Given the description of an element on the screen output the (x, y) to click on. 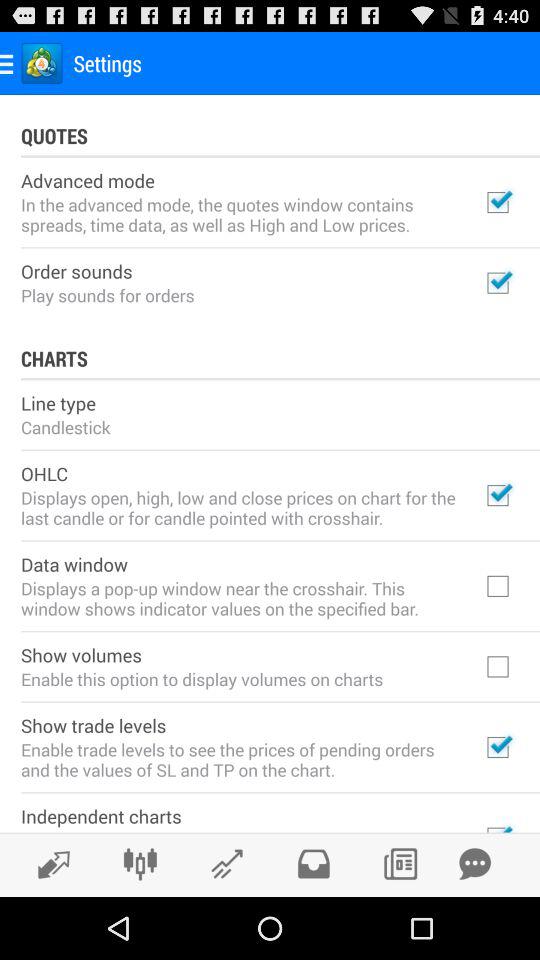
share (48, 864)
